Given the description of an element on the screen output the (x, y) to click on. 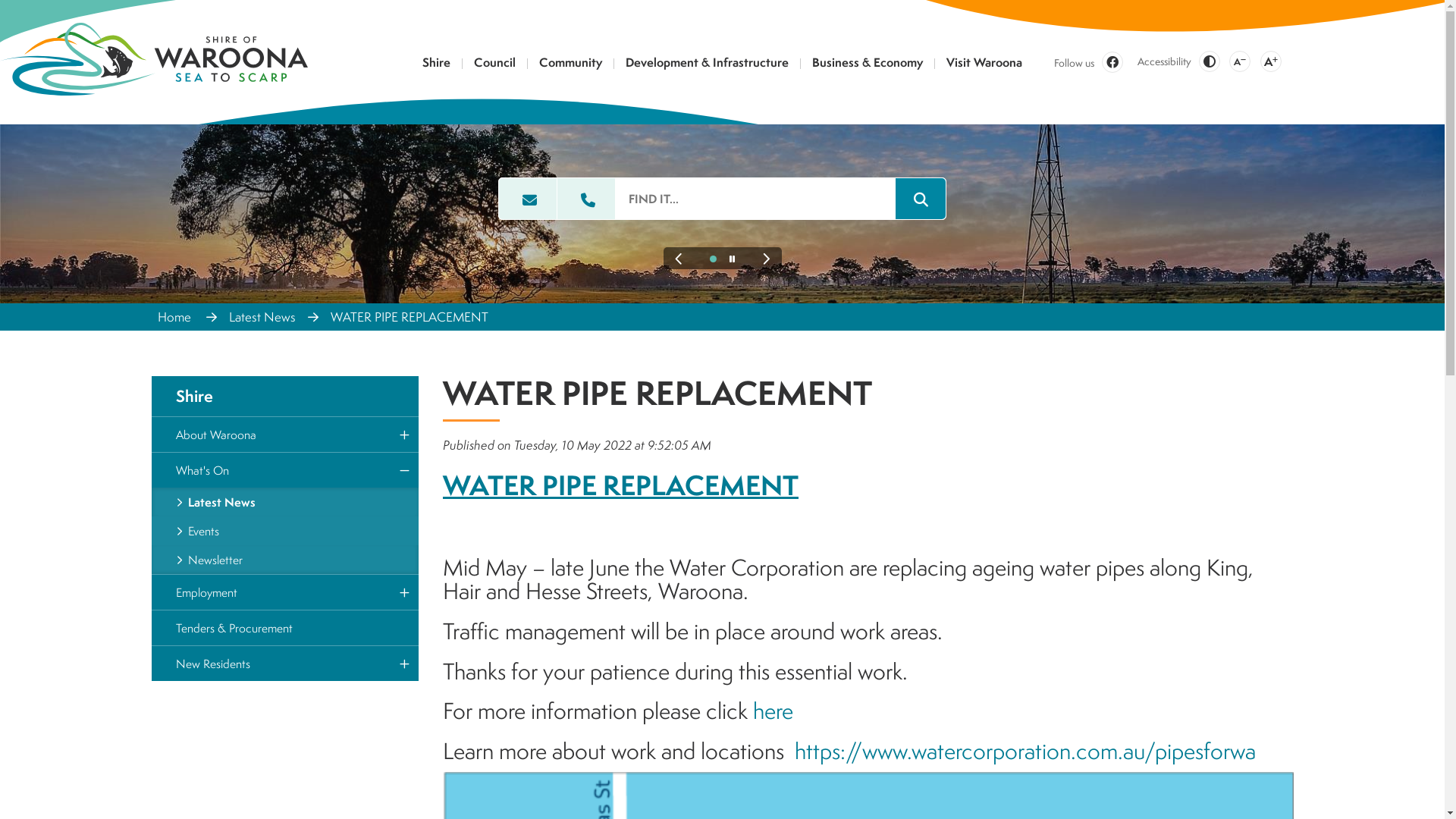
New Residents Element type: text (285, 663)
Follow us Element type: text (1088, 61)
Newsletter Element type: text (285, 559)
Home Element type: text (175, 316)
Email the Shire of Waroona Element type: hover (527, 198)
Latest News Element type: text (261, 316)
Visit Waroona Element type: text (983, 66)
Pause this Slideshow Element type: hover (732, 258)
Council Element type: text (494, 66)
Employment Element type: text (285, 591)
Change Colour Contrast Element type: hover (1208, 61)
What's On Element type: text (285, 469)
Business & Economy Element type: text (867, 66)
A Element type: text (1239, 61)
WATER PIPE REPLACEMENT Element type: text (409, 316)
Shire Element type: text (285, 396)
A Element type: text (1270, 61)
here Element type: text (773, 710)
Latest News Element type: text (285, 501)
Development & Infrastructure Element type: text (707, 66)
Call the Shire of Waroona Element type: hover (586, 198)
About Waroona Element type: text (285, 434)
Shire Element type: text (436, 66)
https://www.watercorporation.com.au/pipesforwa Element type: text (1024, 750)
Next Slide Element type: hover (766, 258)
Community Element type: text (570, 66)
Events Element type: text (285, 530)
Tenders & Procurement Element type: text (285, 627)
Accessibility Element type: text (1163, 61)
Previous Slide Element type: hover (678, 258)
